Given the description of an element on the screen output the (x, y) to click on. 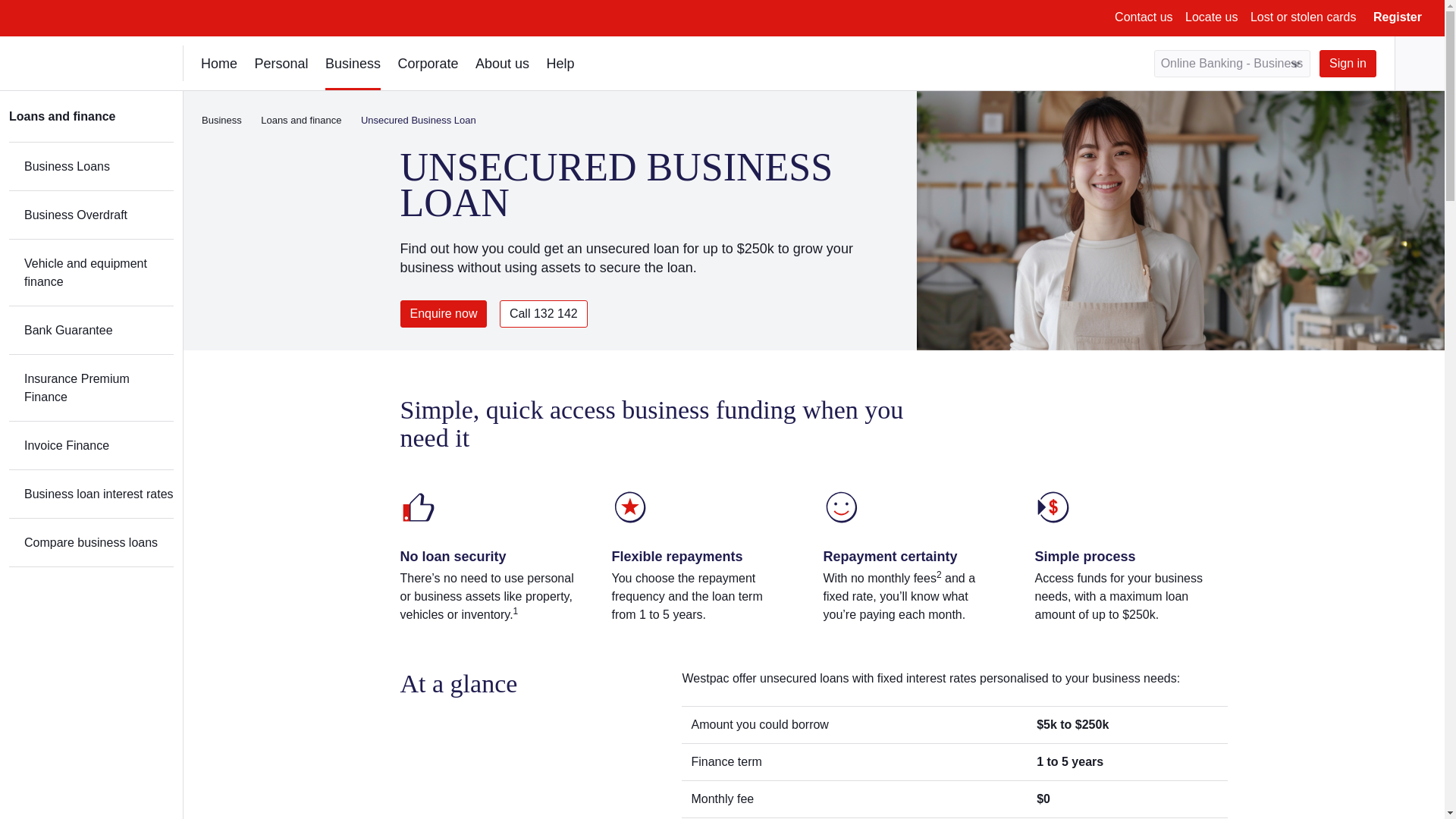
Personal (280, 63)
Register (1397, 17)
Locate us (1211, 16)
Lost or stolen cards (1303, 16)
Contact us (1143, 16)
Sign in (1347, 62)
